Given the description of an element on the screen output the (x, y) to click on. 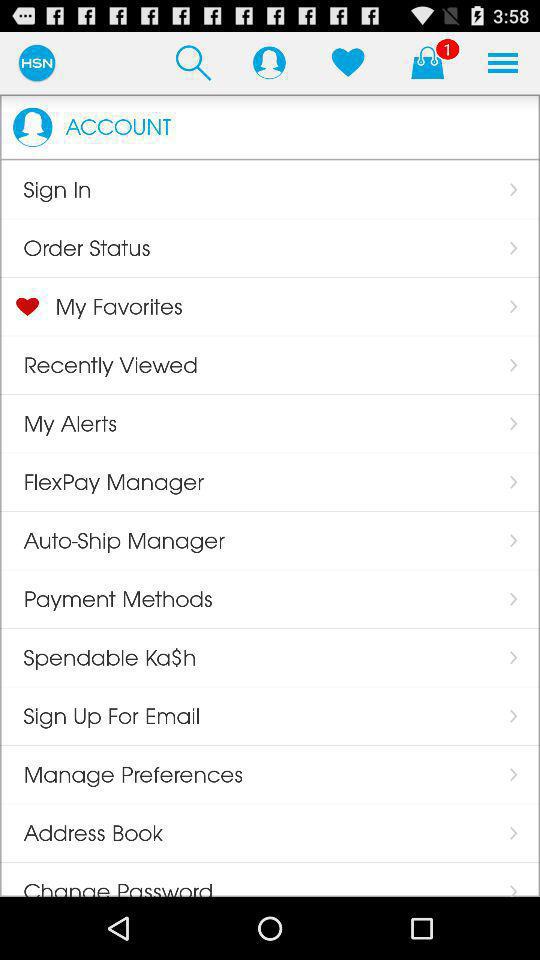
account profile button (269, 62)
